Given the description of an element on the screen output the (x, y) to click on. 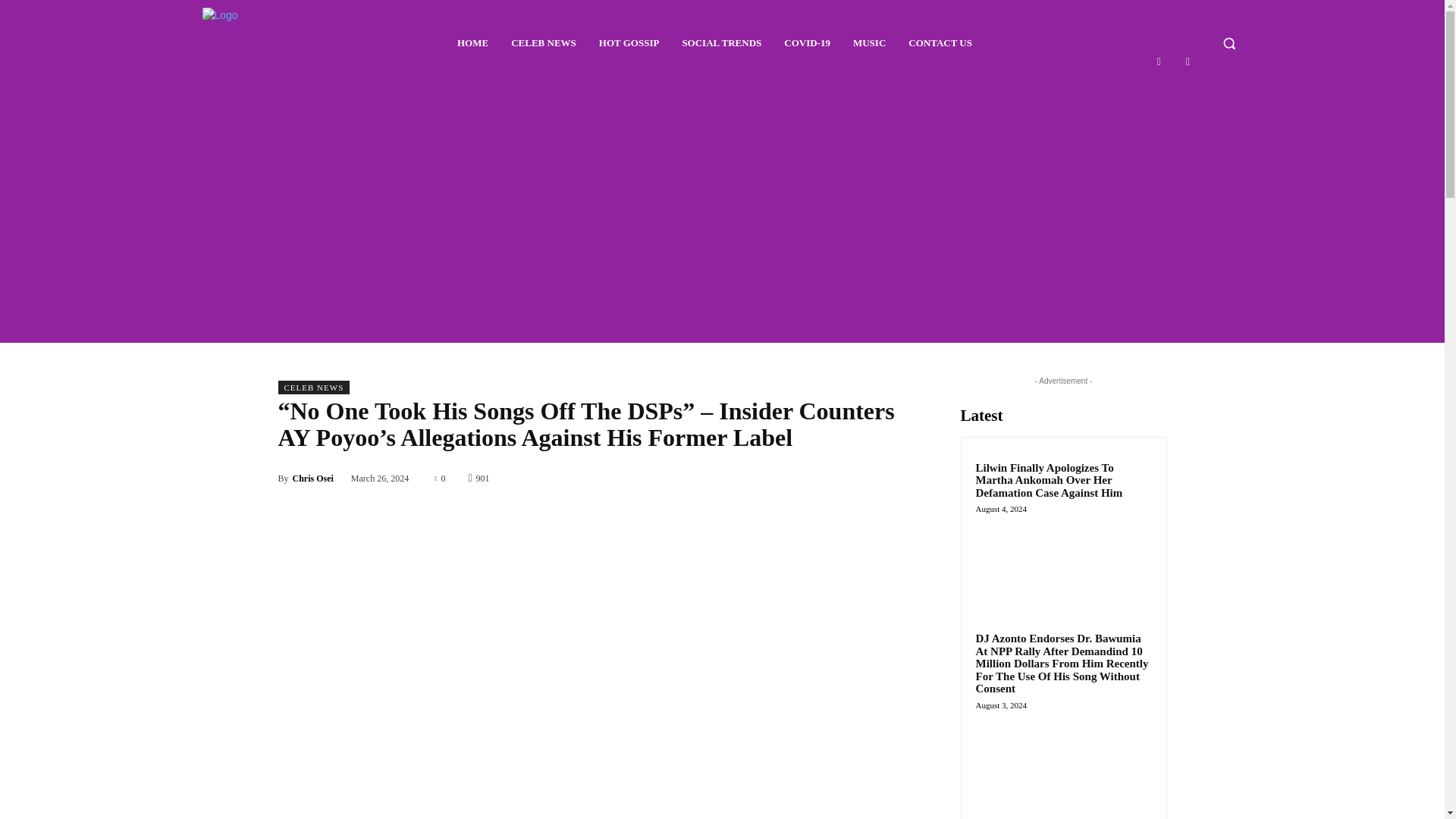
COVID-19 (807, 42)
HOME (472, 42)
CELEB NEWS (313, 386)
CELEB NEWS (543, 42)
Chris Osei (312, 478)
Instagram (1187, 61)
MUSIC (869, 42)
CONTACT US (940, 42)
HOT GOSSIP (628, 42)
Facebook (1158, 61)
0 (439, 477)
SOCIAL TRENDS (721, 42)
